Given the description of an element on the screen output the (x, y) to click on. 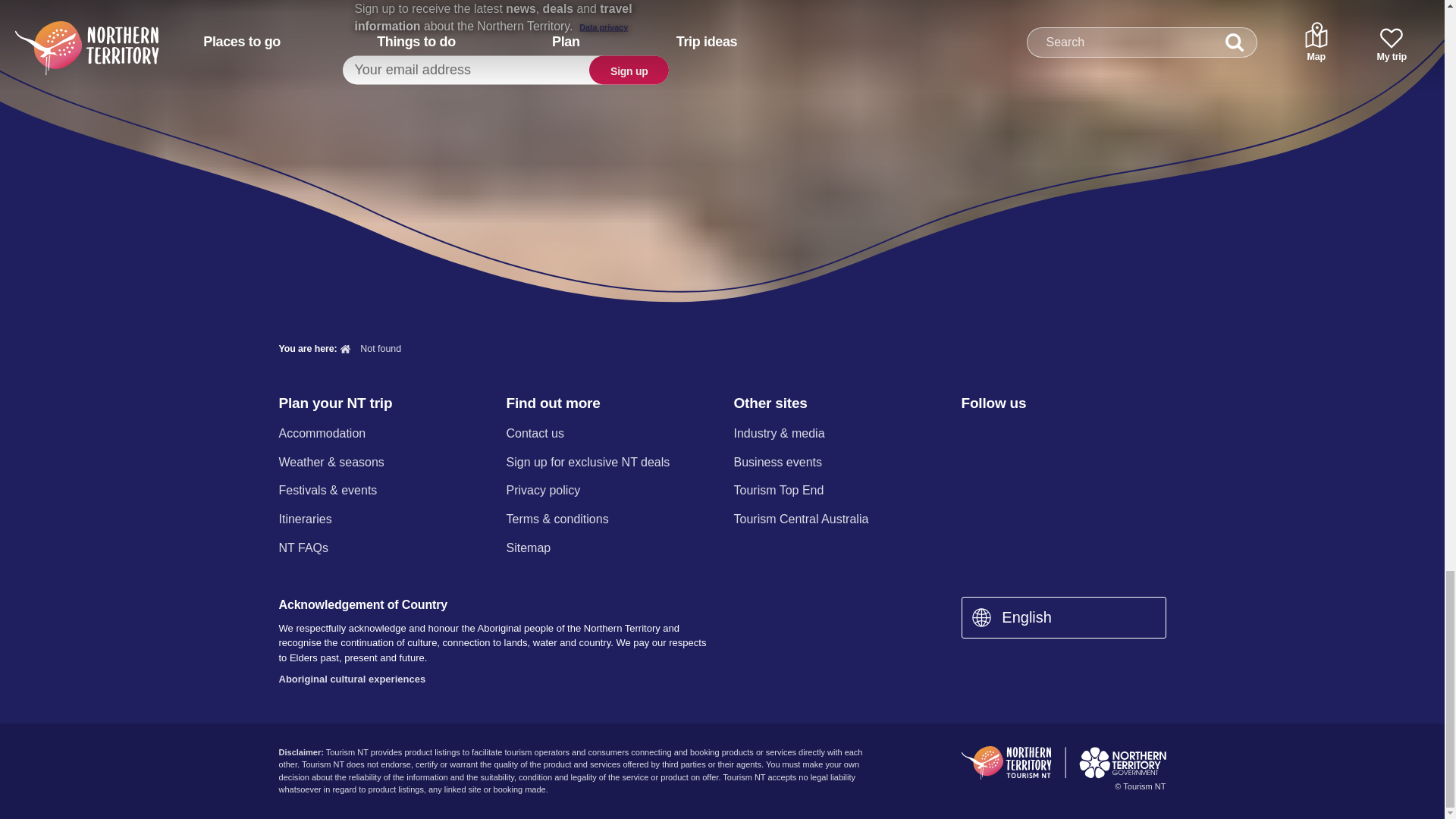
Twitter (1050, 434)
Facebook (970, 434)
YouTube (1089, 434)
Instagram (1009, 434)
Trip Advisor (1129, 434)
